Given the description of an element on the screen output the (x, y) to click on. 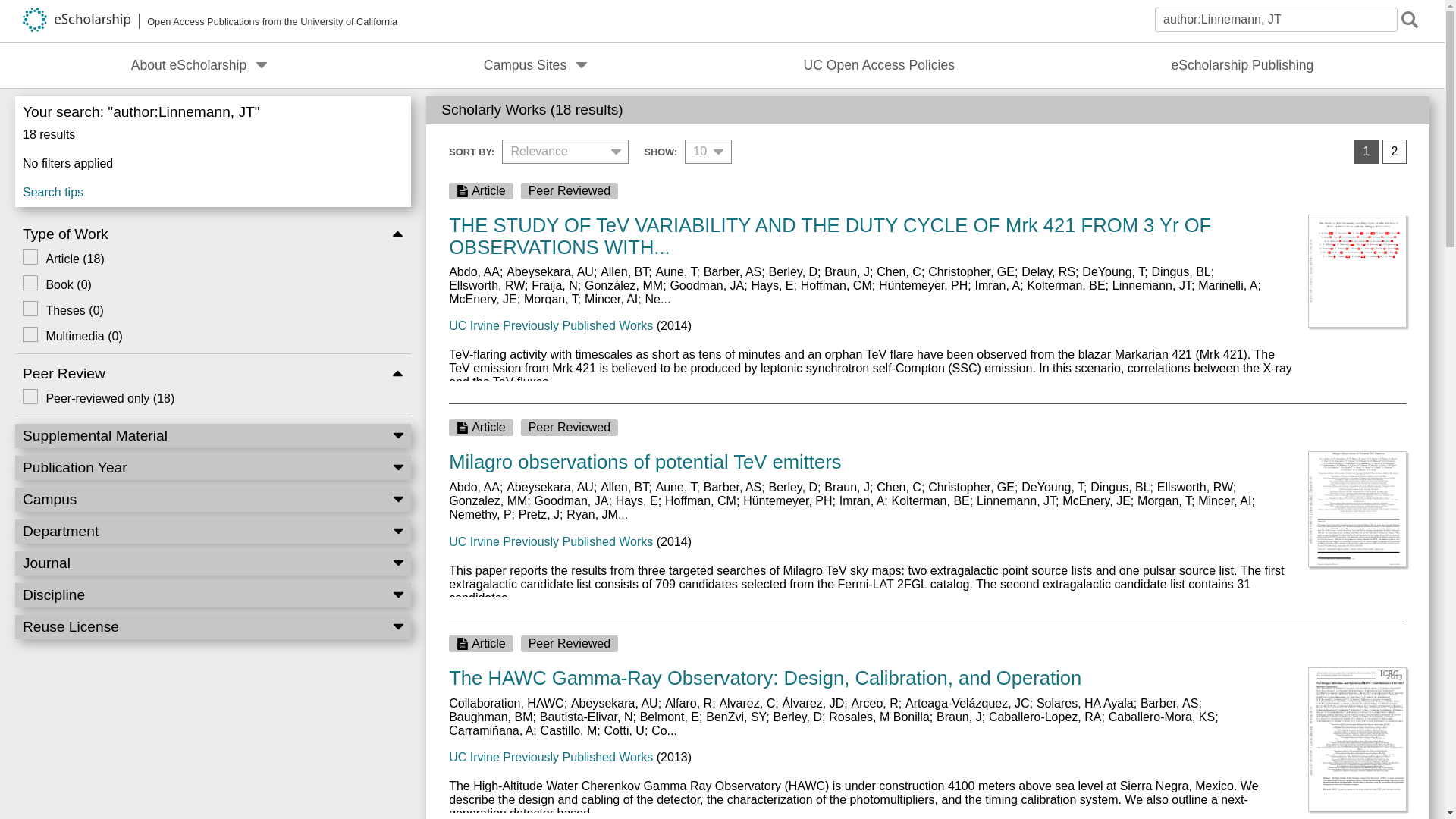
Search tips (213, 188)
1 (1366, 151)
author:Linnemann, JT (1275, 19)
Aune, T (676, 271)
2 (1393, 151)
UC Open Access Policies (879, 65)
Abeysekara, AU (550, 271)
Abdo, AA (473, 271)
eScholarship Publishing (1241, 65)
